Given the description of an element on the screen output the (x, y) to click on. 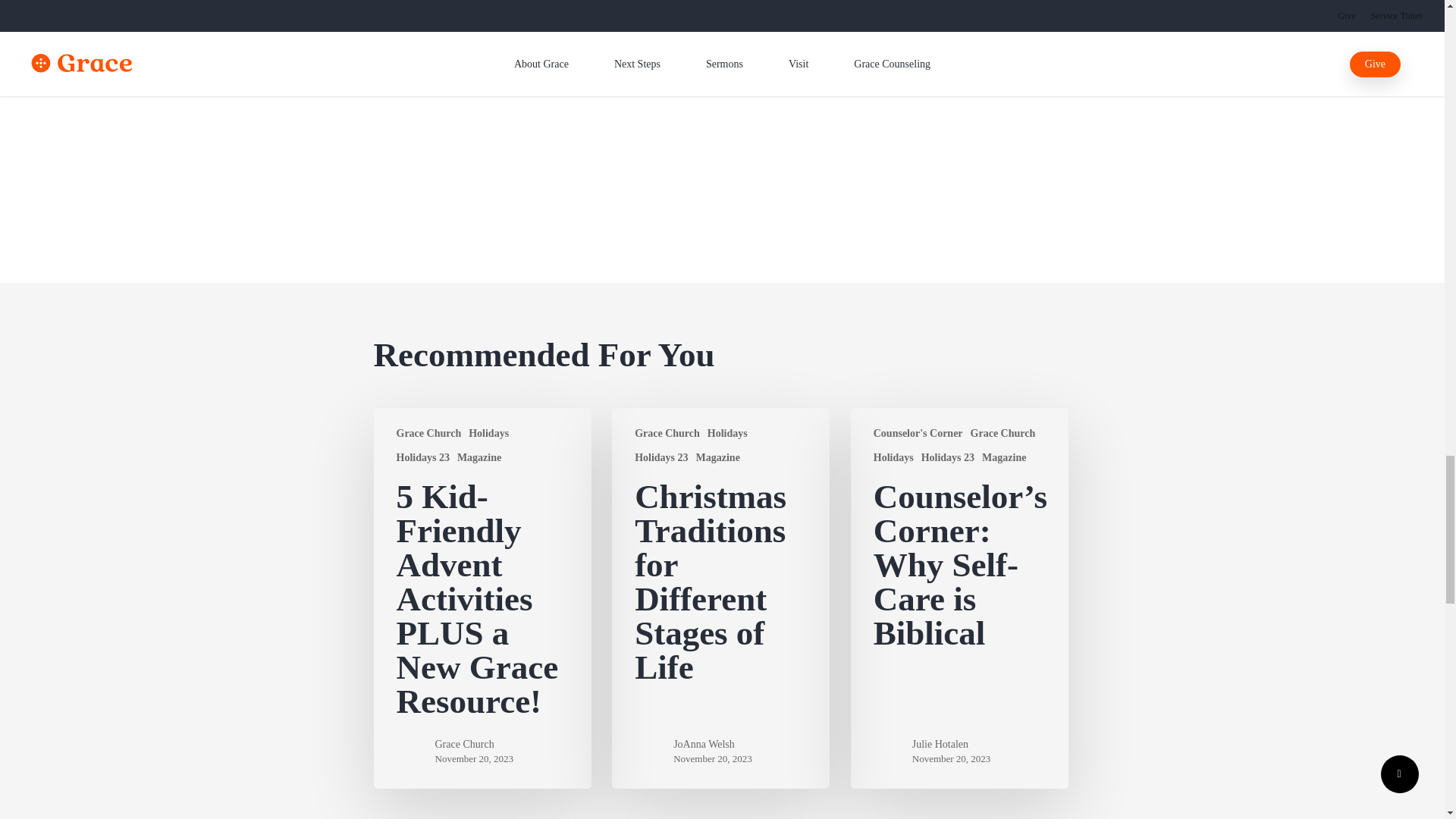
Holidays (488, 432)
Grace Church (428, 432)
Magazine (478, 457)
Holidays 23 (422, 457)
